Given the description of an element on the screen output the (x, y) to click on. 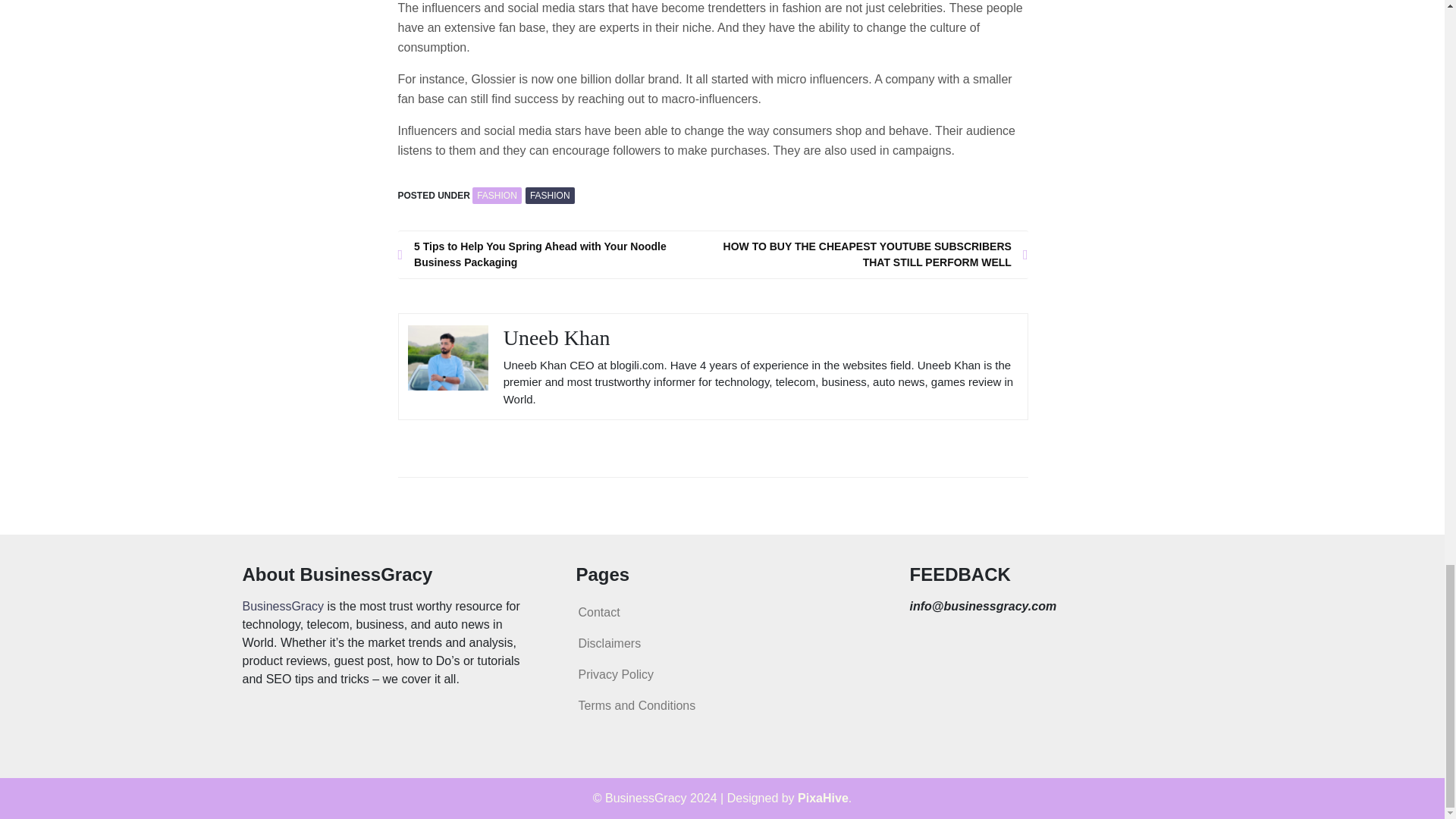
FASHION (550, 195)
FASHION (496, 195)
